Given the description of an element on the screen output the (x, y) to click on. 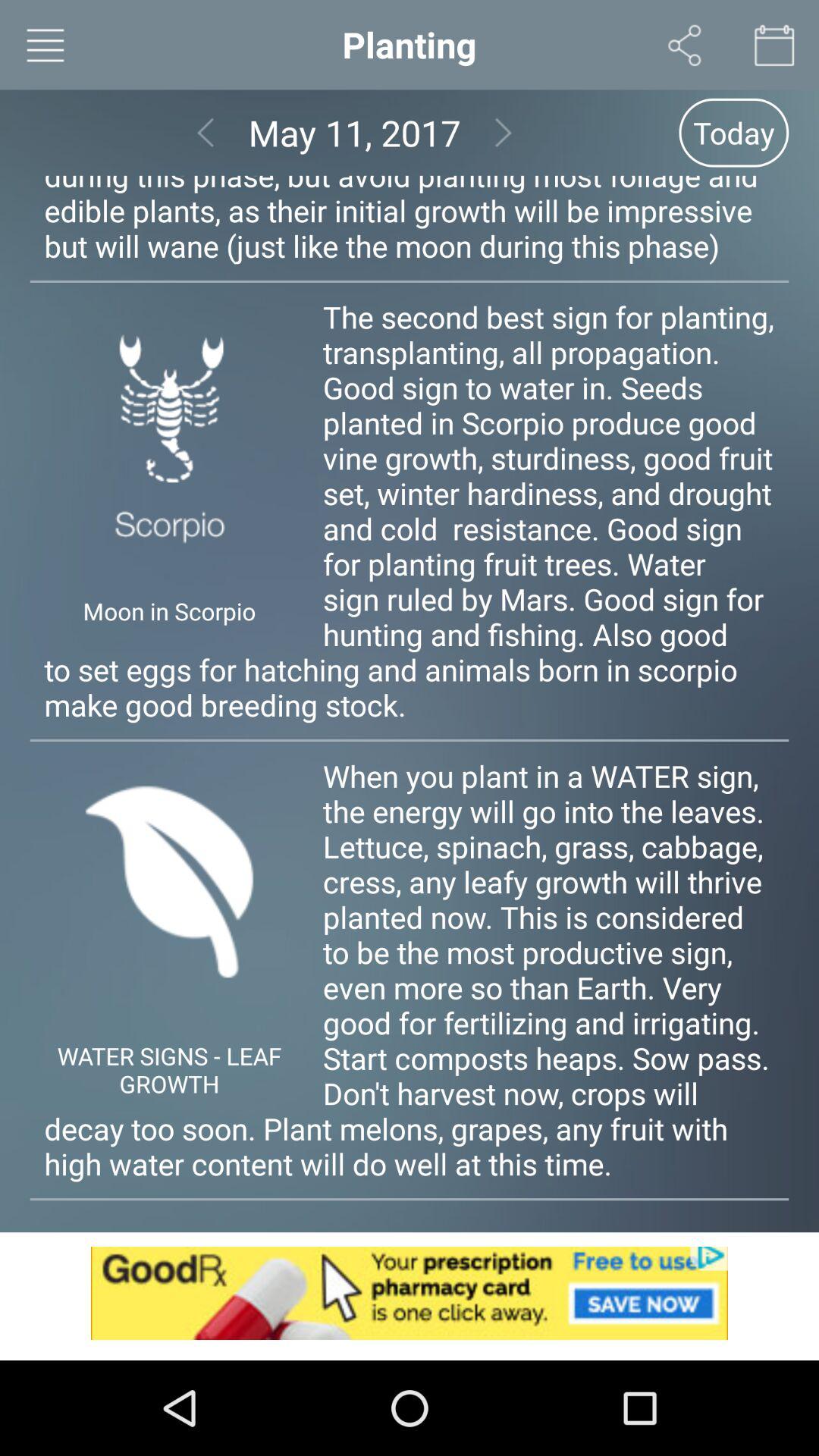
next page (503, 132)
